Given the description of an element on the screen output the (x, y) to click on. 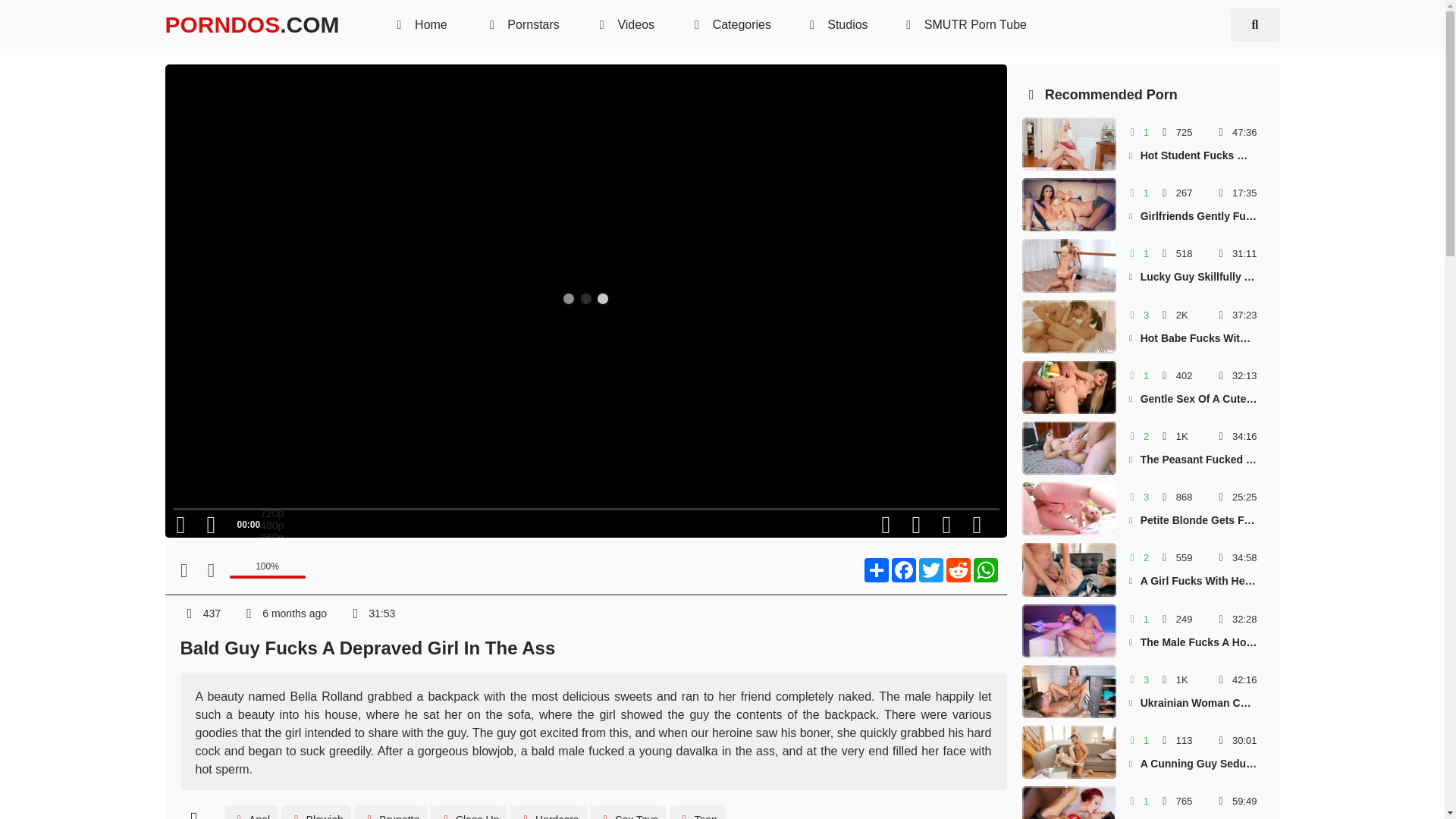
Like (184, 569)
Dislike (209, 569)
360p (271, 537)
Close Up (468, 812)
Twitter (930, 569)
Brunette (1143, 143)
WhatsApp (391, 812)
Share (985, 569)
Hardcore (876, 569)
Blowjob (548, 812)
SMUTR Porn Tube (315, 812)
Studios (963, 24)
480p (835, 24)
